Given the description of an element on the screen output the (x, y) to click on. 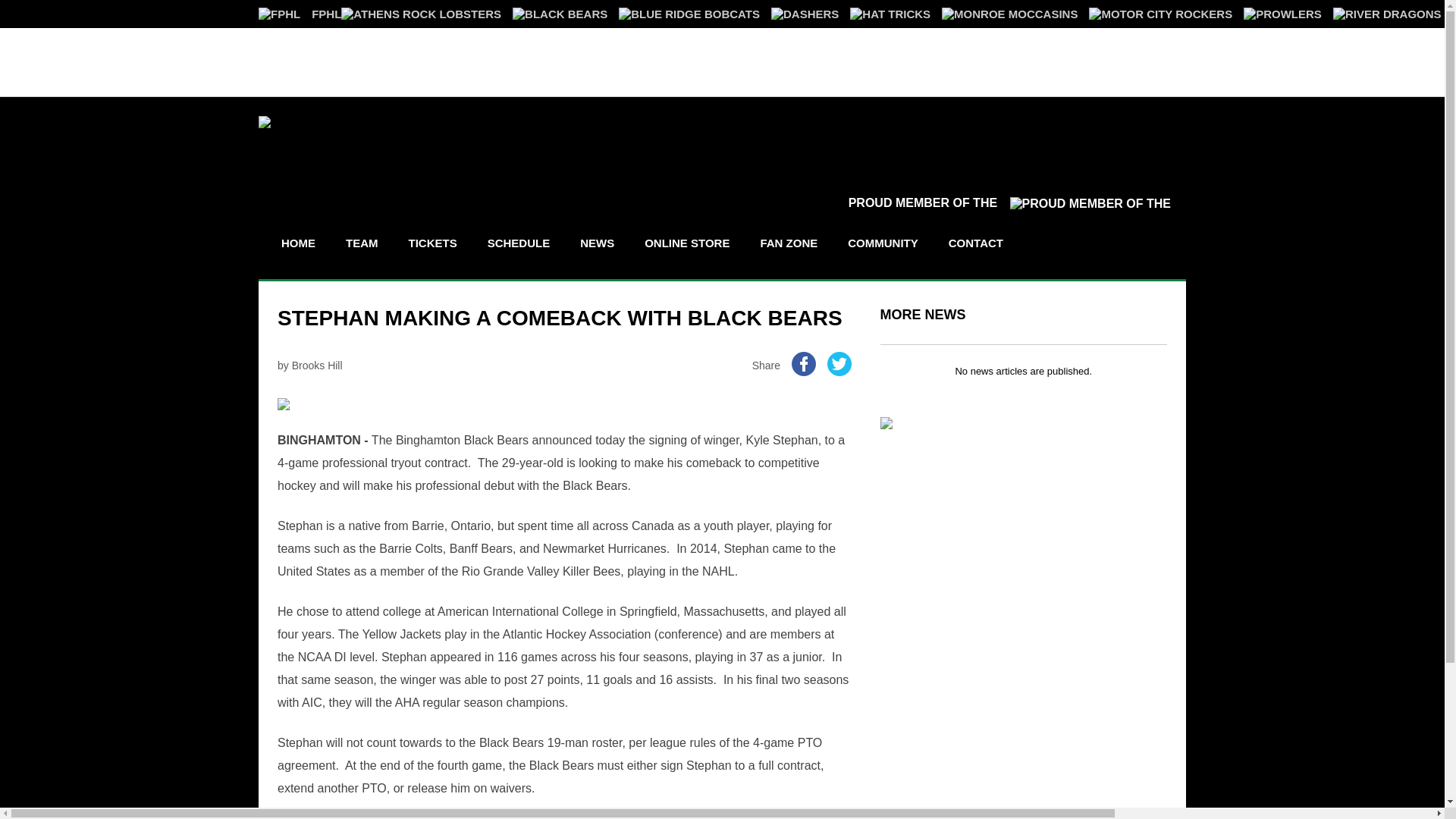
NEWS (597, 242)
ONLINE STORE (687, 242)
PROUD MEMBER OF THE (1009, 202)
FPHL (299, 13)
HOME (297, 242)
